Given the description of an element on the screen output the (x, y) to click on. 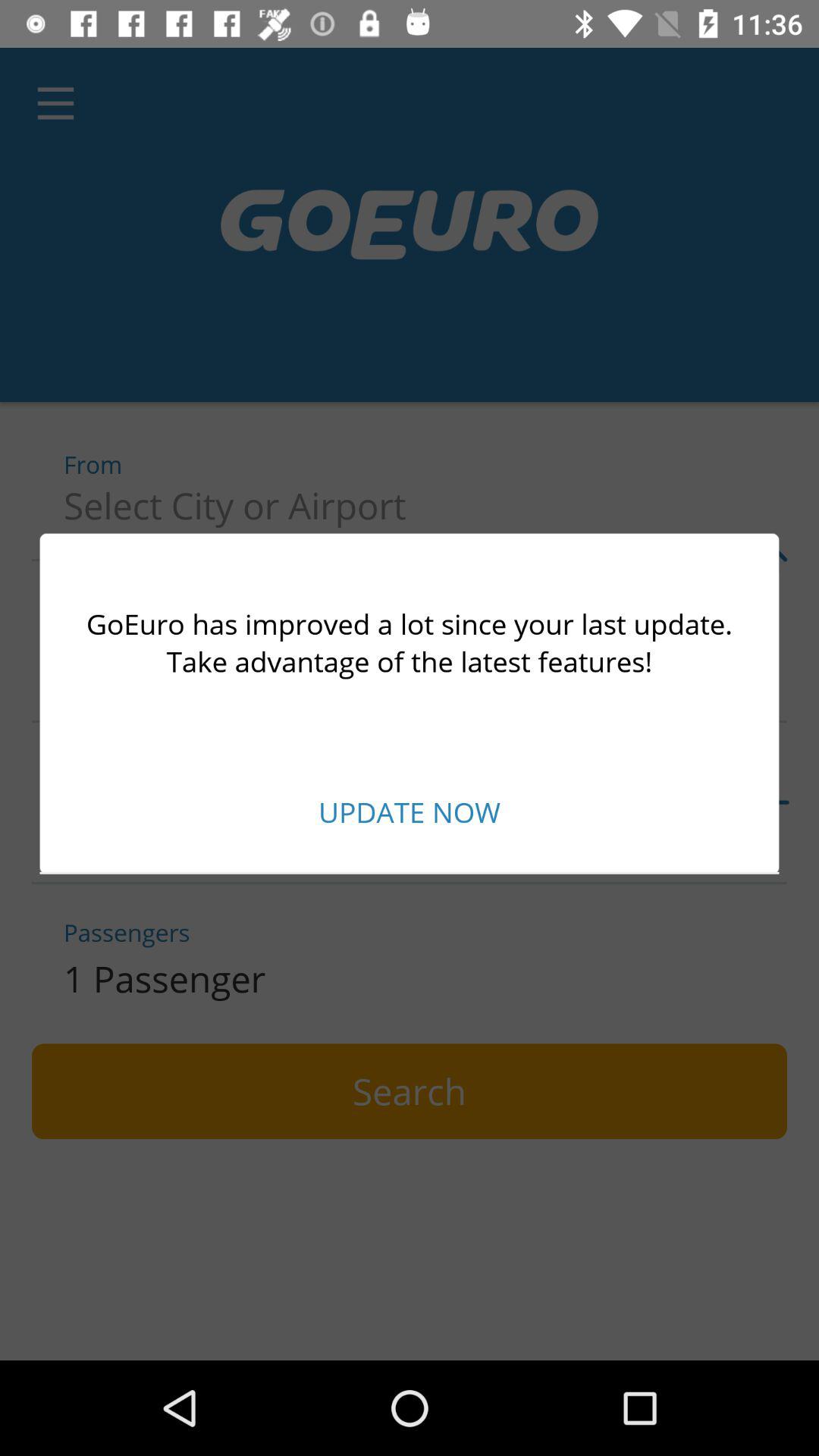
click item below the goeuro has improved icon (409, 811)
